Given the description of an element on the screen output the (x, y) to click on. 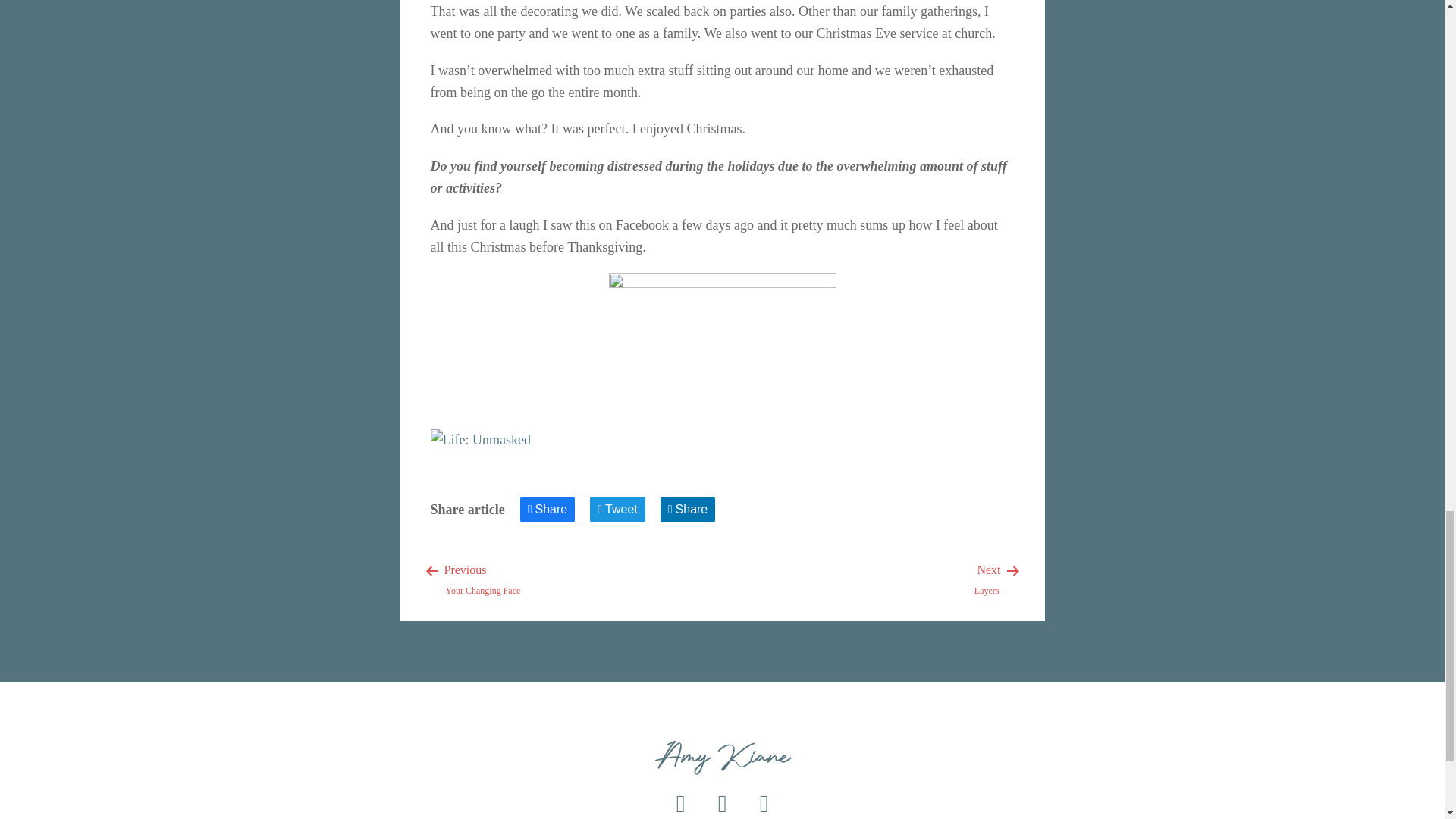
Share (688, 509)
Share (987, 579)
Tweet (547, 509)
